Given the description of an element on the screen output the (x, y) to click on. 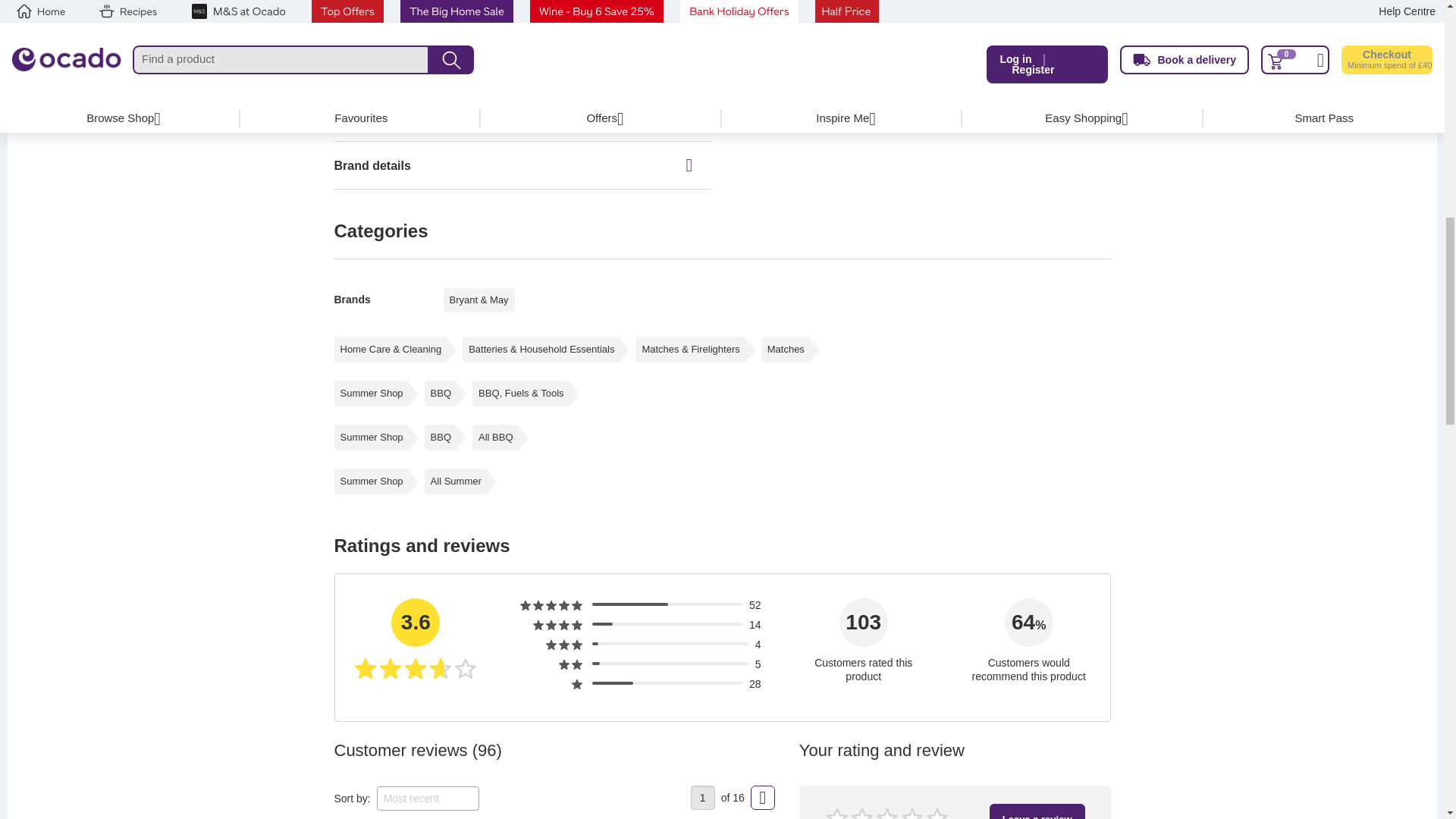
Brand details (521, 164)
1 (702, 797)
Reviews 2.5 of 5 (629, 604)
1 star reviews (576, 684)
Usage (521, 117)
3 star reviews (563, 645)
Matches (785, 349)
4 star reviews (556, 625)
5 star reviews (550, 605)
